Given the description of an element on the screen output the (x, y) to click on. 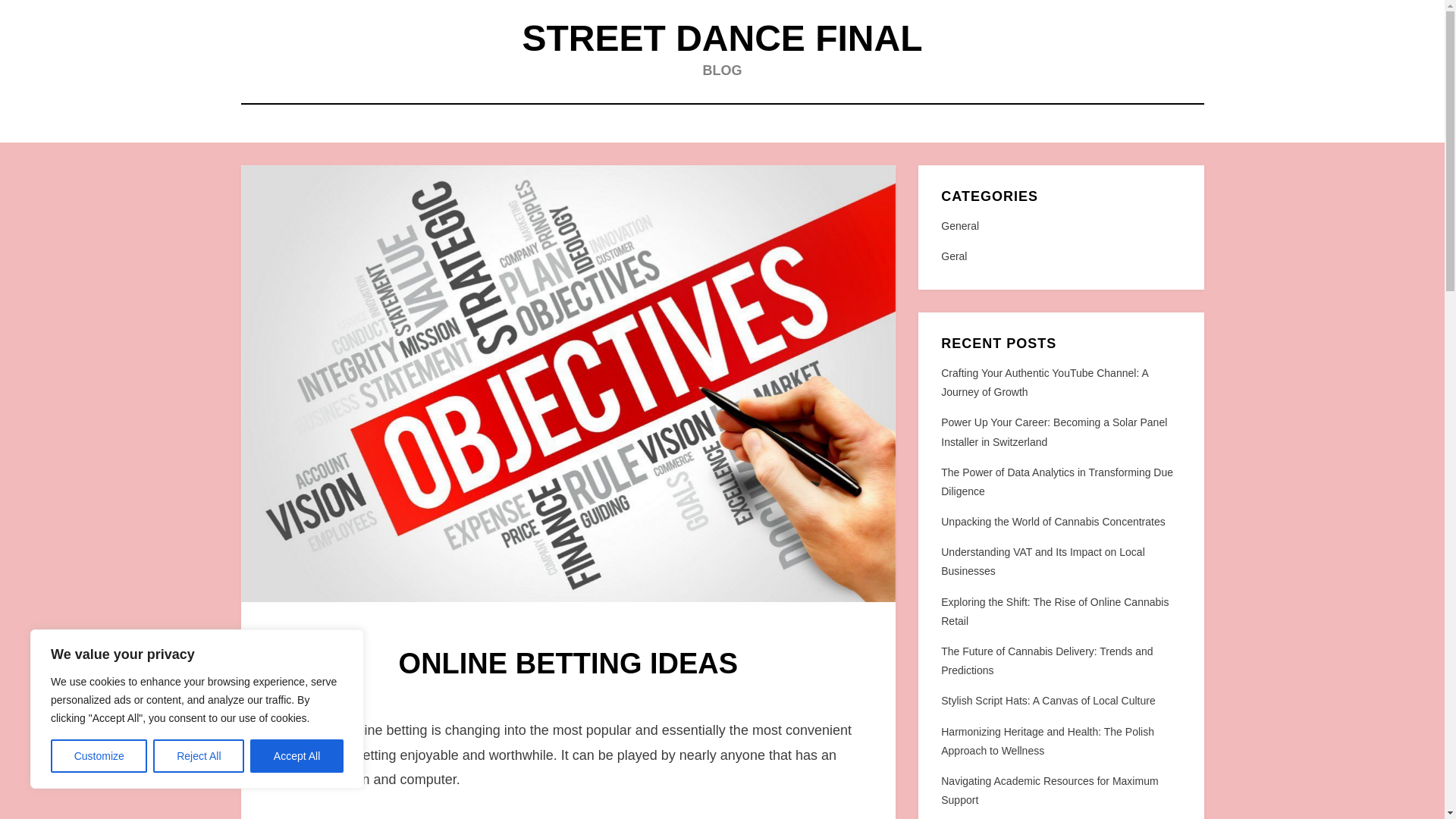
Exploring the Shift: The Rise of Online Cannabis Retail (1054, 611)
STREET DANCE FINAL (721, 38)
Geral (1060, 256)
Unpacking the World of Cannabis Concentrates (1052, 521)
Stylish Script Hats: A Canvas of Local Culture (1047, 700)
The Power of Data Analytics in Transforming Due Diligence (1056, 481)
Crafting Your Authentic YouTube Channel: A Journey of Growth (1044, 382)
Understanding VAT and Its Impact on Local Businesses (1042, 561)
Accept All (296, 756)
